Given the description of an element on the screen output the (x, y) to click on. 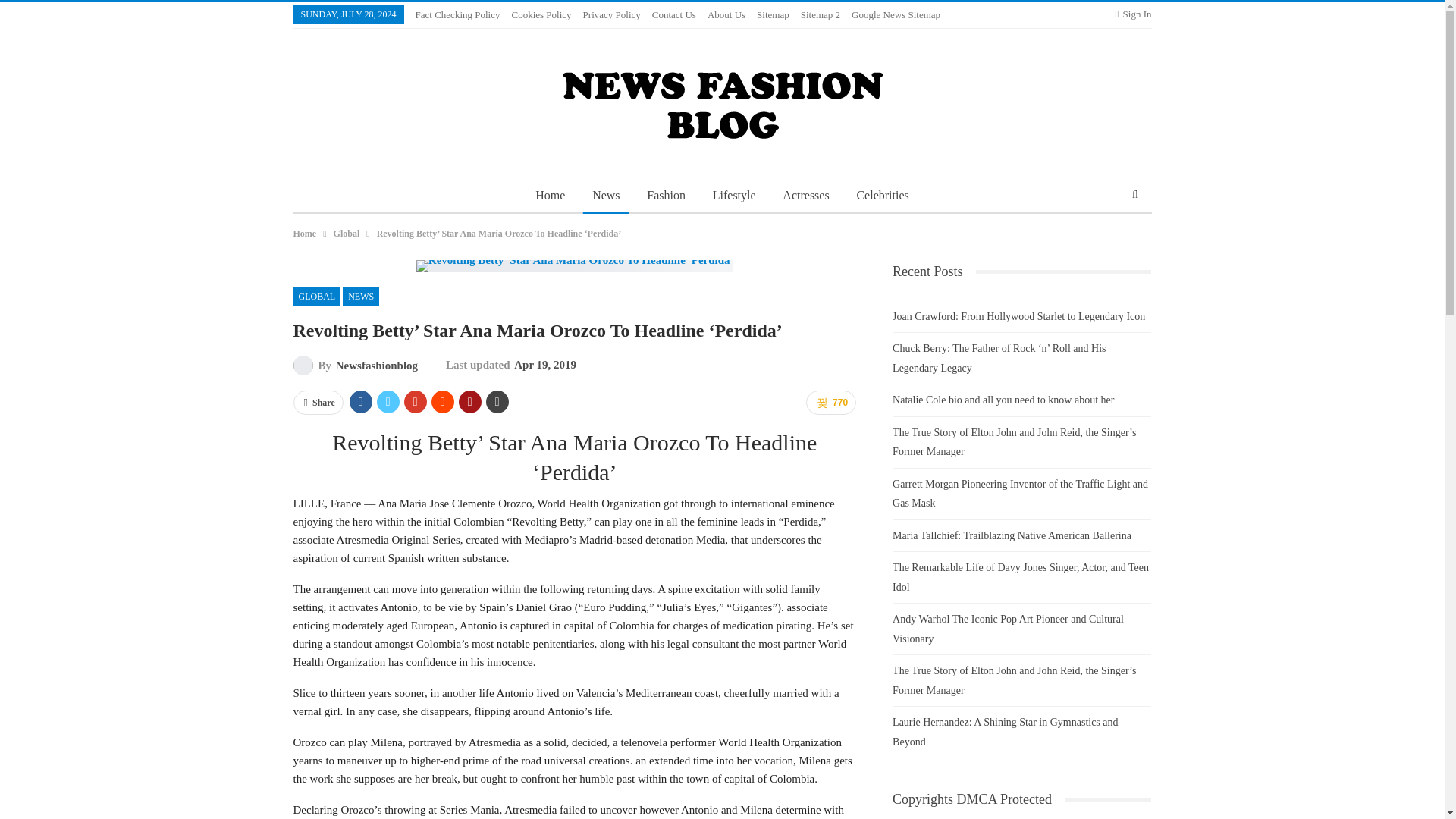
Actresses (805, 195)
Fashion (665, 195)
Privacy Policy (611, 14)
Global (346, 233)
Cookies Policy (540, 14)
Sitemap (773, 14)
News (605, 195)
Lifestyle (734, 195)
NEWS (360, 296)
About Us (726, 14)
Fact Checking Policy (457, 14)
By Newsfashionblog (354, 364)
Celebrities (882, 195)
GLOBAL (316, 296)
Sitemap 2 (820, 14)
